Given the description of an element on the screen output the (x, y) to click on. 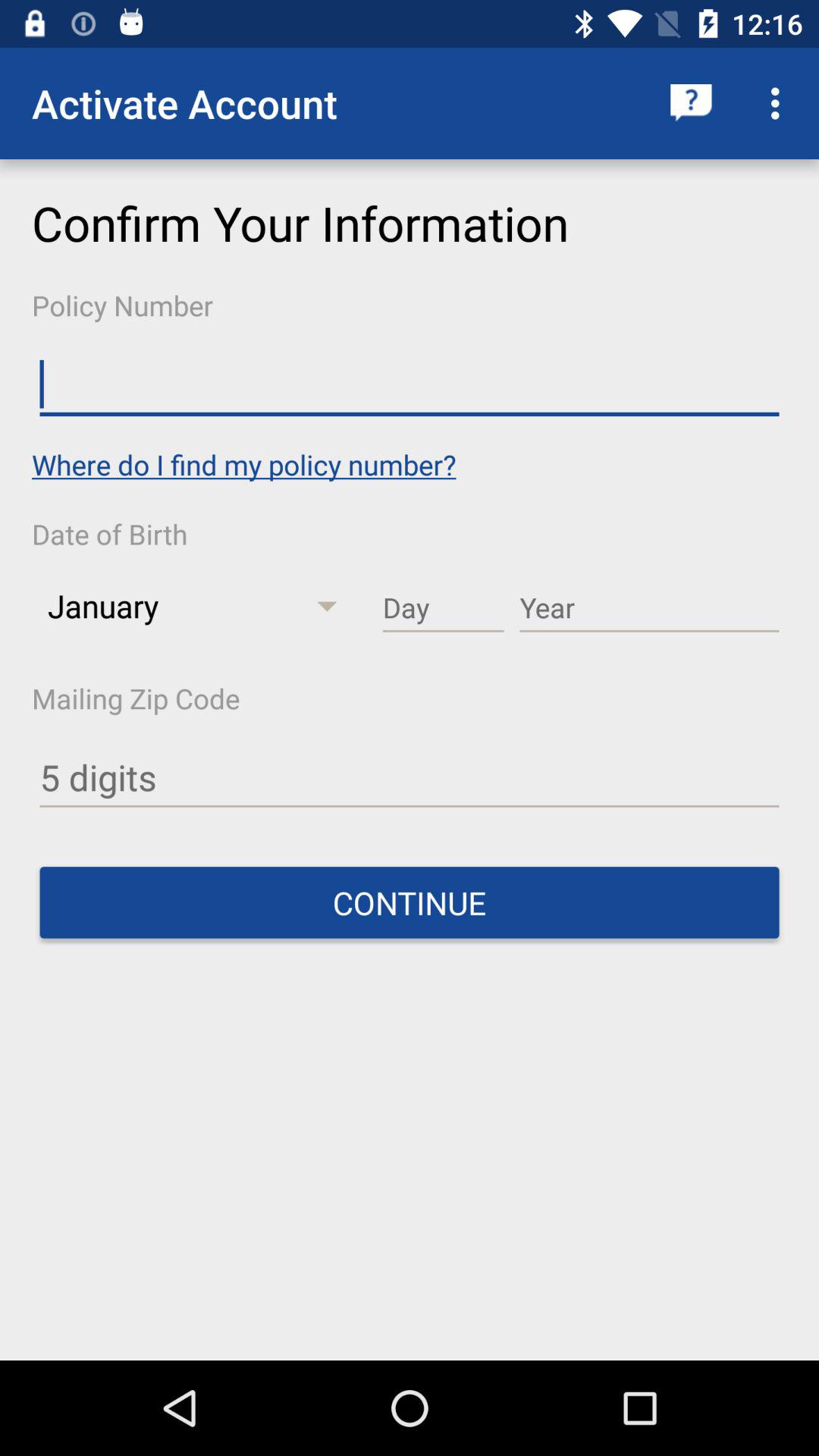
enter policy number (409, 384)
